Given the description of an element on the screen output the (x, y) to click on. 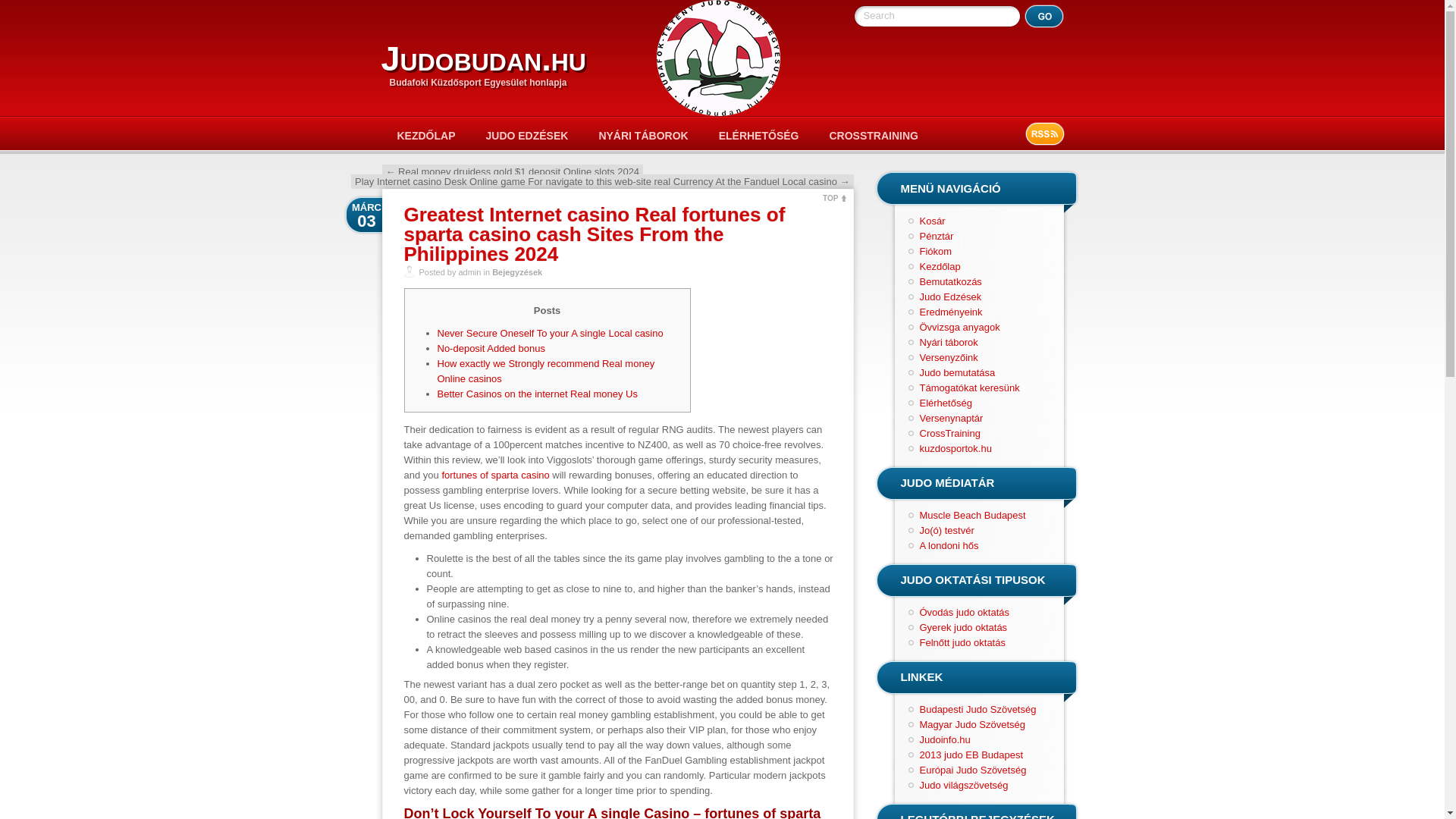
CrossTraining (948, 432)
TOP (834, 196)
No-deposit Added bonus (490, 348)
Muscle Beach Budapest (971, 514)
Better Casinos on the internet Real money Us (536, 393)
Judobudan.hu (482, 58)
CROSSTRAINING (873, 135)
How exactly we Strongly recommend Real money Online casinos (544, 370)
